Given the description of an element on the screen output the (x, y) to click on. 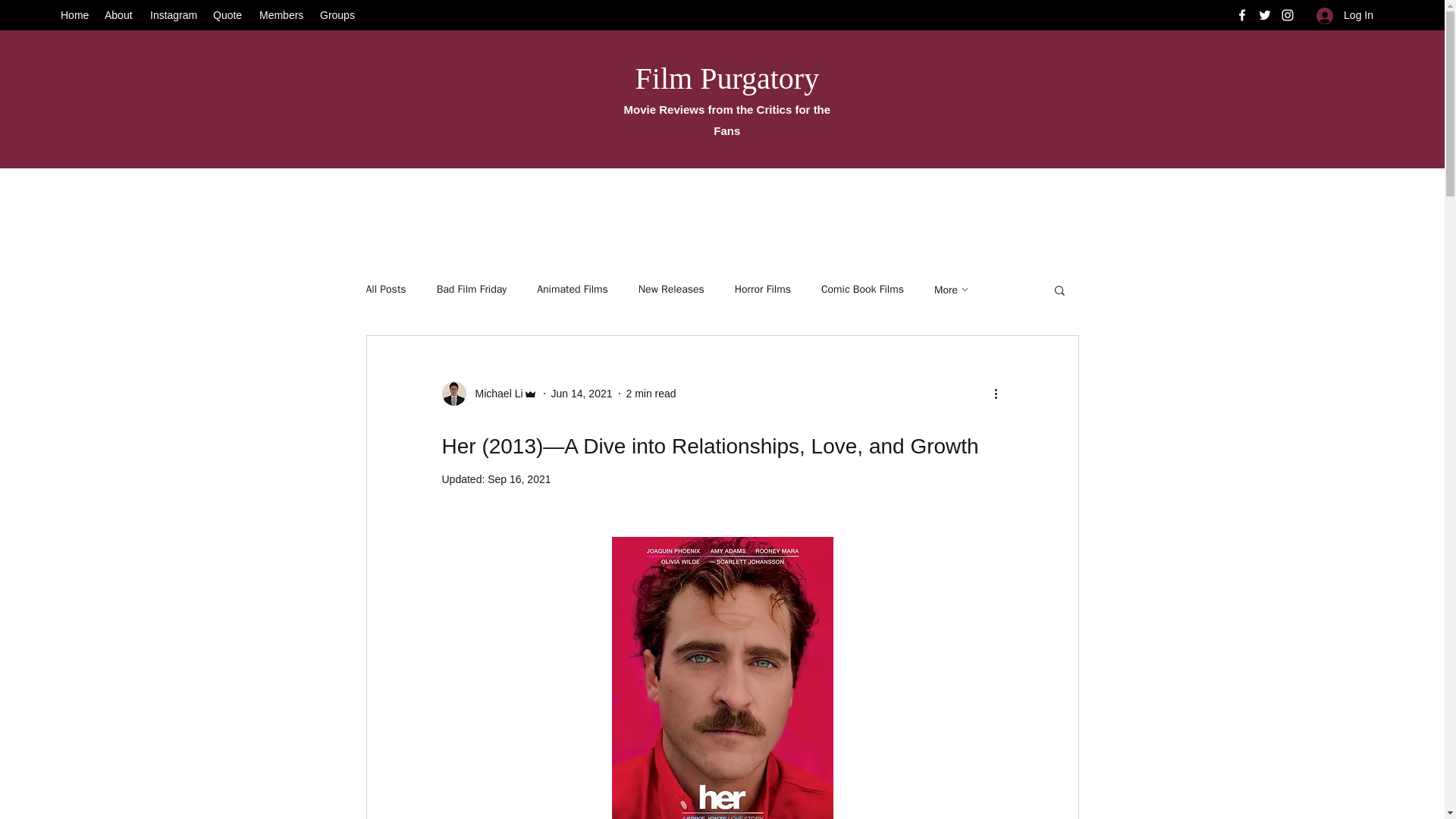
Quote (228, 15)
Groups (337, 15)
Sep 16, 2021 (518, 479)
Comic Book Films (862, 289)
Bad Film Friday (471, 289)
All Posts (385, 289)
Animated Films (572, 289)
Michael Li (493, 393)
Instagram (173, 15)
Horror Films (762, 289)
2 min read (651, 393)
About (119, 15)
Michael Li (489, 393)
Log In (1345, 15)
New Releases (671, 289)
